Given the description of an element on the screen output the (x, y) to click on. 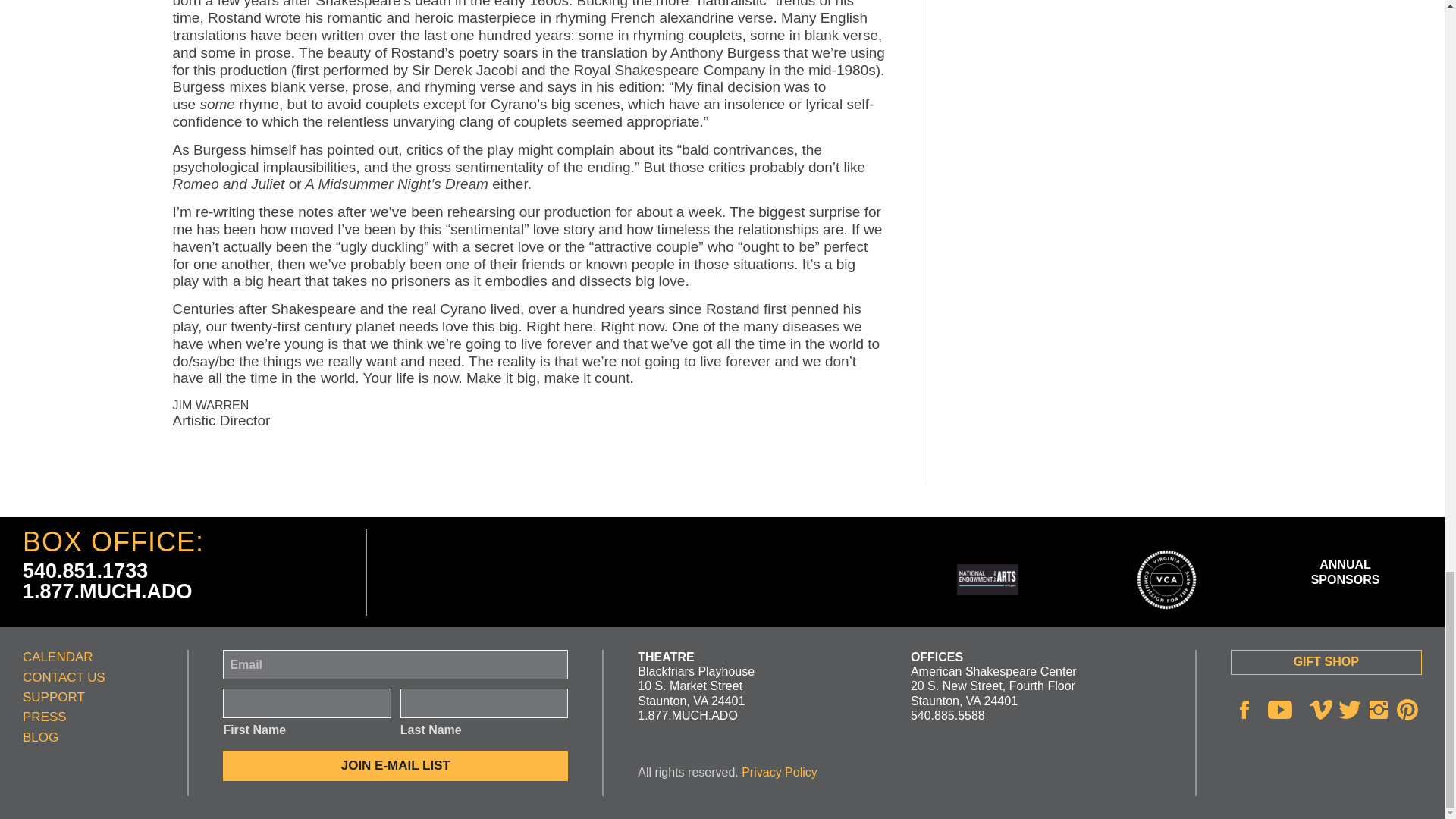
Email (394, 664)
Join E-mail List (394, 766)
NEA Dark (987, 579)
VCA White (1166, 579)
